Given the description of an element on the screen output the (x, y) to click on. 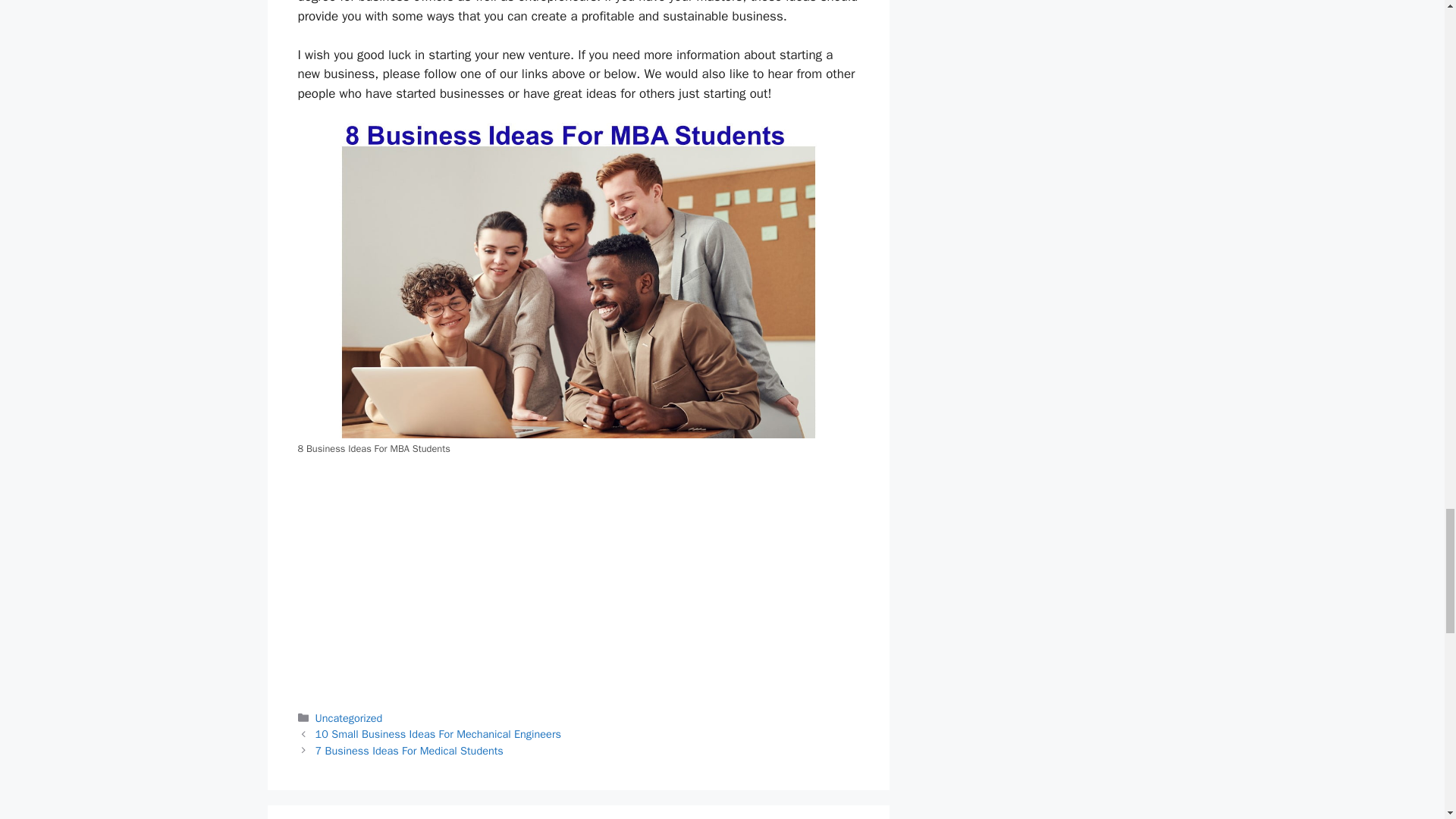
Uncategorized (348, 717)
10 Small Business Ideas For Mechanical Engineers (437, 734)
7 Business Ideas For Medical Students (409, 750)
